Given the description of an element on the screen output the (x, y) to click on. 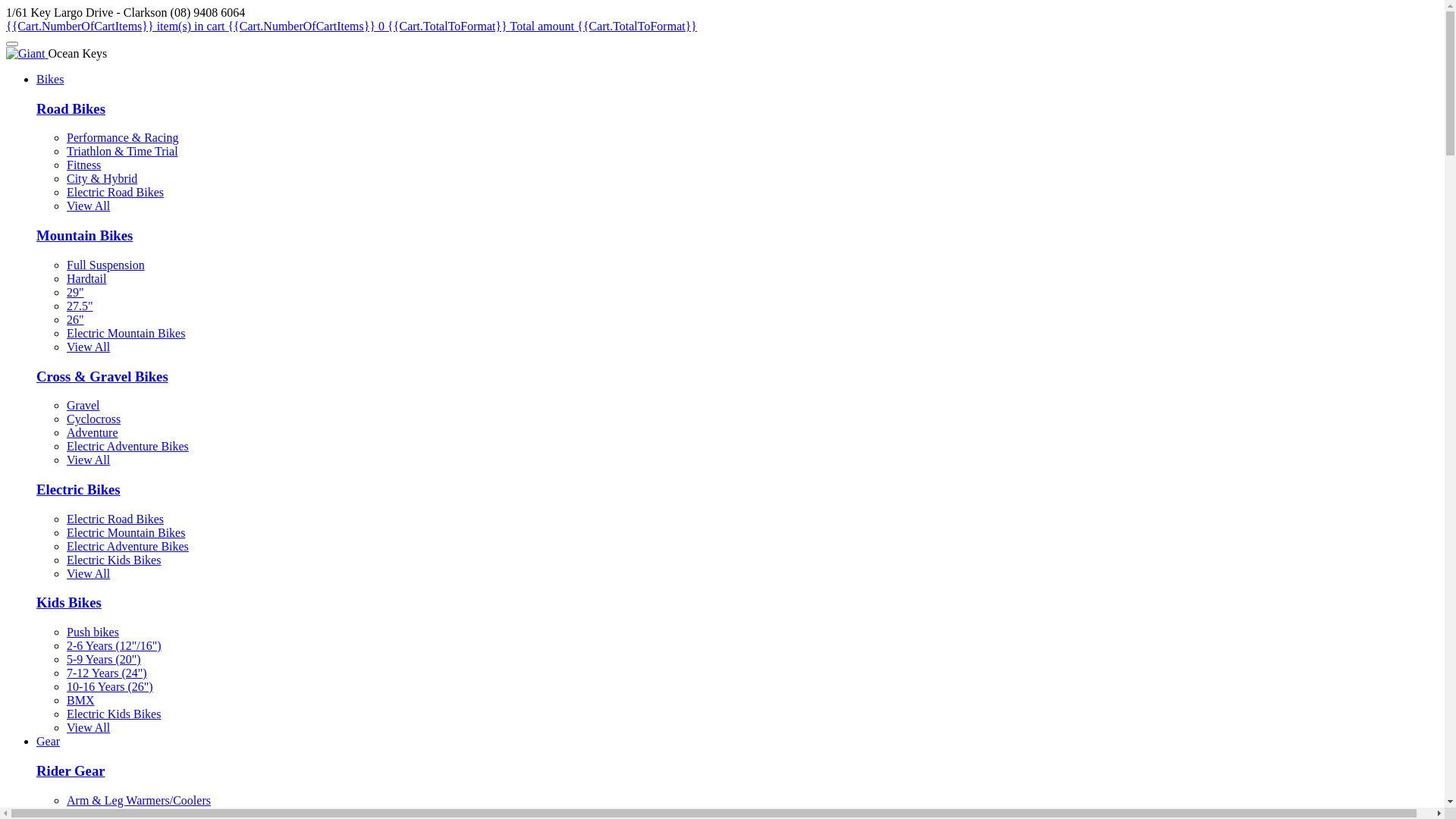
View All Element type: text (87, 459)
City & Hybrid Element type: text (101, 178)
10-16 Years (26") Element type: text (109, 686)
Electric Road Bikes Element type: text (114, 518)
View All Element type: text (87, 346)
Electric Adventure Bikes Element type: text (127, 545)
Arm & Leg Warmers/Coolers Element type: text (138, 799)
View All Element type: text (87, 205)
Push bikes Element type: text (92, 631)
29" Element type: text (75, 291)
Full Suspension Element type: text (105, 264)
26" Element type: text (75, 319)
Electric Kids Bikes Element type: text (113, 559)
Electric Mountain Bikes Element type: text (125, 332)
BMX Element type: text (80, 699)
Electric Kids Bikes Element type: text (113, 713)
Bikes Element type: text (49, 78)
Electric Road Bikes Element type: text (114, 191)
Electric Bikes Element type: text (78, 489)
Electric Adventure Bikes Element type: text (127, 445)
View All Element type: text (87, 573)
Performance & Racing Element type: text (122, 137)
5-9 Years (20") Element type: text (103, 658)
Rider Gear Element type: text (70, 770)
27.5" Element type: text (79, 305)
Triathlon & Time Trial Element type: text (122, 150)
Kids Bikes Element type: text (68, 602)
Adventure Element type: text (92, 432)
7-12 Years (24") Element type: text (106, 672)
Cross & Gravel Bikes Element type: text (102, 376)
Road Bikes Element type: text (70, 108)
Cyclocross Element type: text (93, 418)
Hardtail Element type: text (86, 278)
Gear Element type: text (47, 740)
Electric Mountain Bikes Element type: text (125, 532)
Mountain Bikes Element type: text (84, 235)
2-6 Years (12"/16") Element type: text (113, 645)
View All Element type: text (87, 727)
Gravel Element type: text (83, 404)
Fitness Element type: text (83, 164)
